Given the description of an element on the screen output the (x, y) to click on. 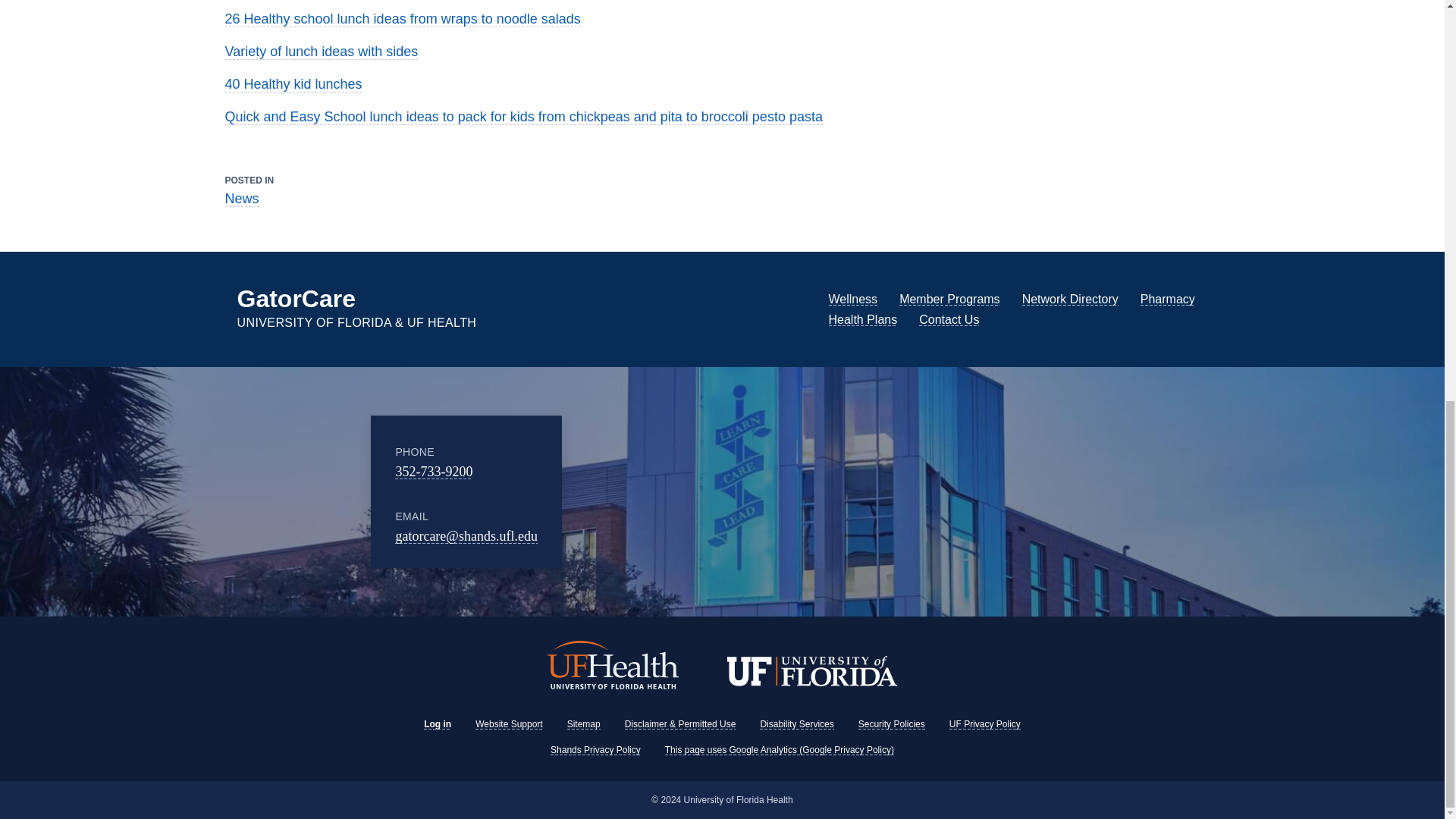
Website Support (509, 724)
UF Privacy Policy (984, 724)
352-733-9200 (432, 471)
Contact Us (948, 318)
Log in (437, 724)
Disability Services (796, 724)
Sitemap (583, 724)
Health Plans (862, 318)
Member Programs (948, 298)
Pharmacy (1167, 298)
Security Policies (891, 724)
Network Directory (1070, 298)
Wellness (852, 298)
